Given the description of an element on the screen output the (x, y) to click on. 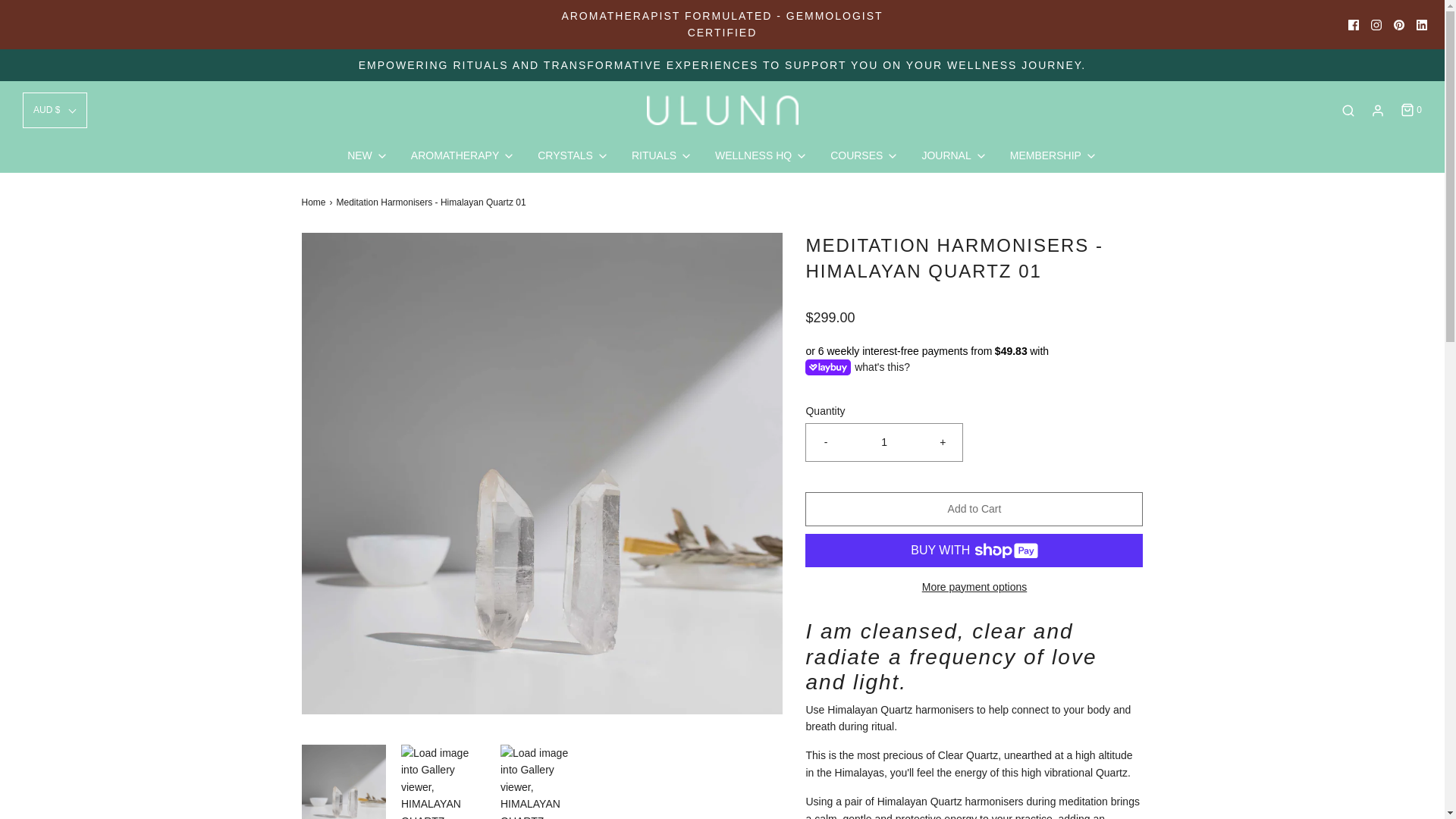
LINKEDIN ICON (1421, 24)
FACEBOOK ICON (1353, 24)
Search (1347, 110)
Search (1423, 55)
FACEBOOK ICON (1353, 24)
INSTAGRAM ICON (1376, 24)
PINTEREST ICON (1399, 24)
LINKEDIN ICON (1421, 24)
Back to the frontpage (315, 202)
Log in (1377, 110)
1 (884, 442)
Cart (1409, 110)
INSTAGRAM ICON (1376, 24)
PINTEREST ICON (1399, 24)
